Given the description of an element on the screen output the (x, y) to click on. 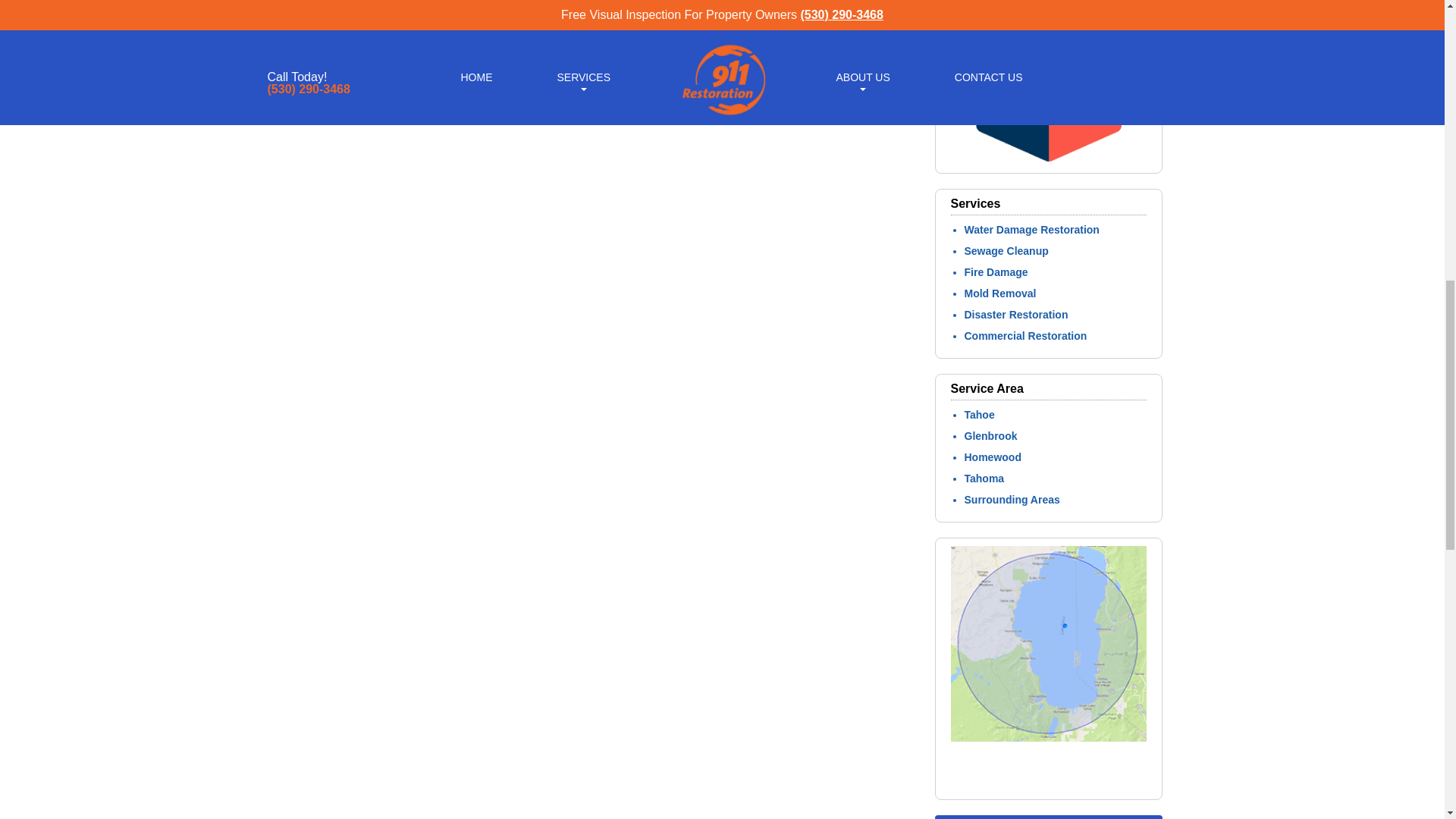
Service Area (1048, 784)
